Given the description of an element on the screen output the (x, y) to click on. 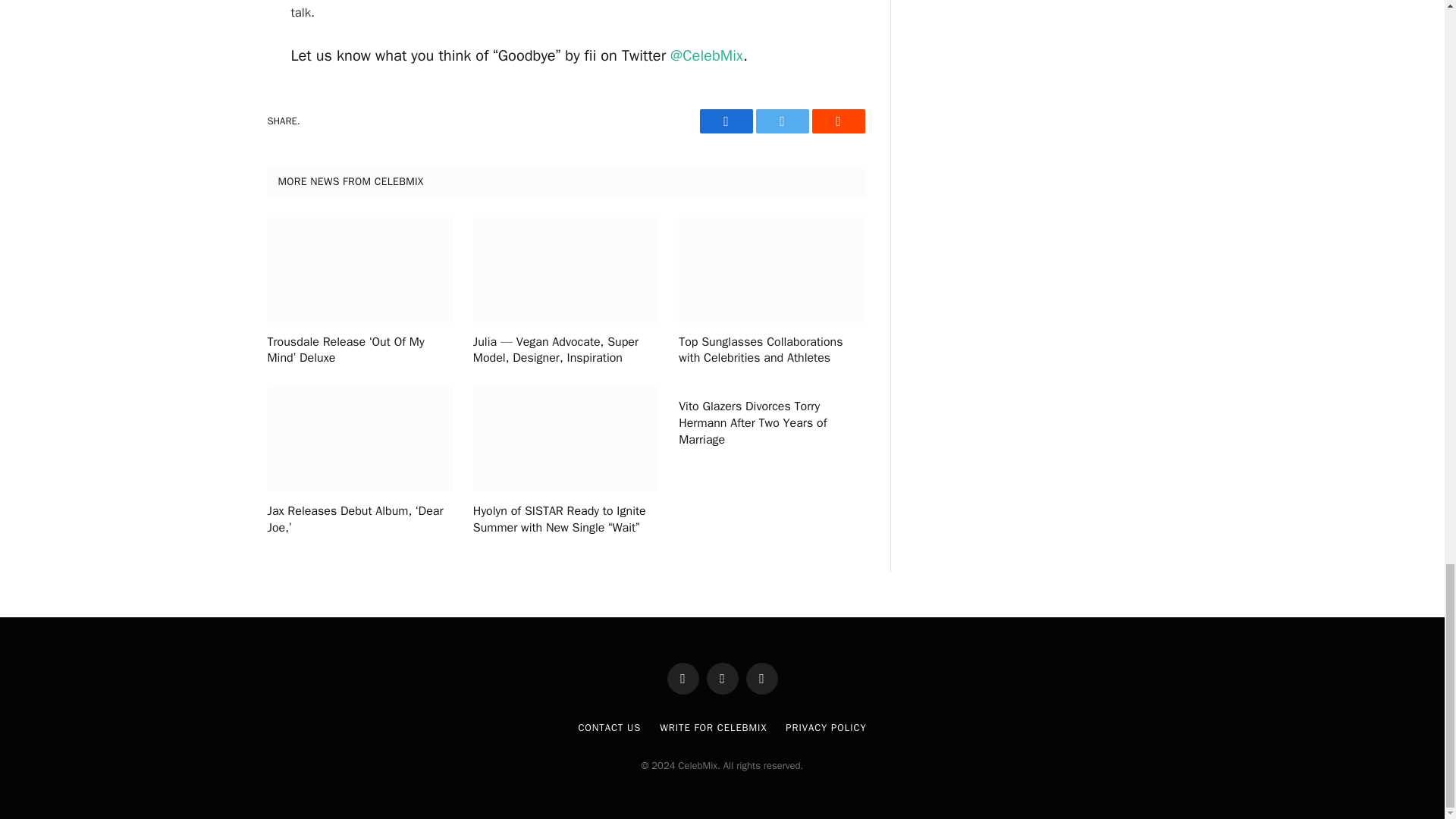
Top Sunglasses Collaborations with Celebrities and Athletes (771, 350)
Twitter (781, 120)
Facebook (725, 120)
Reddit (837, 120)
